Given the description of an element on the screen output the (x, y) to click on. 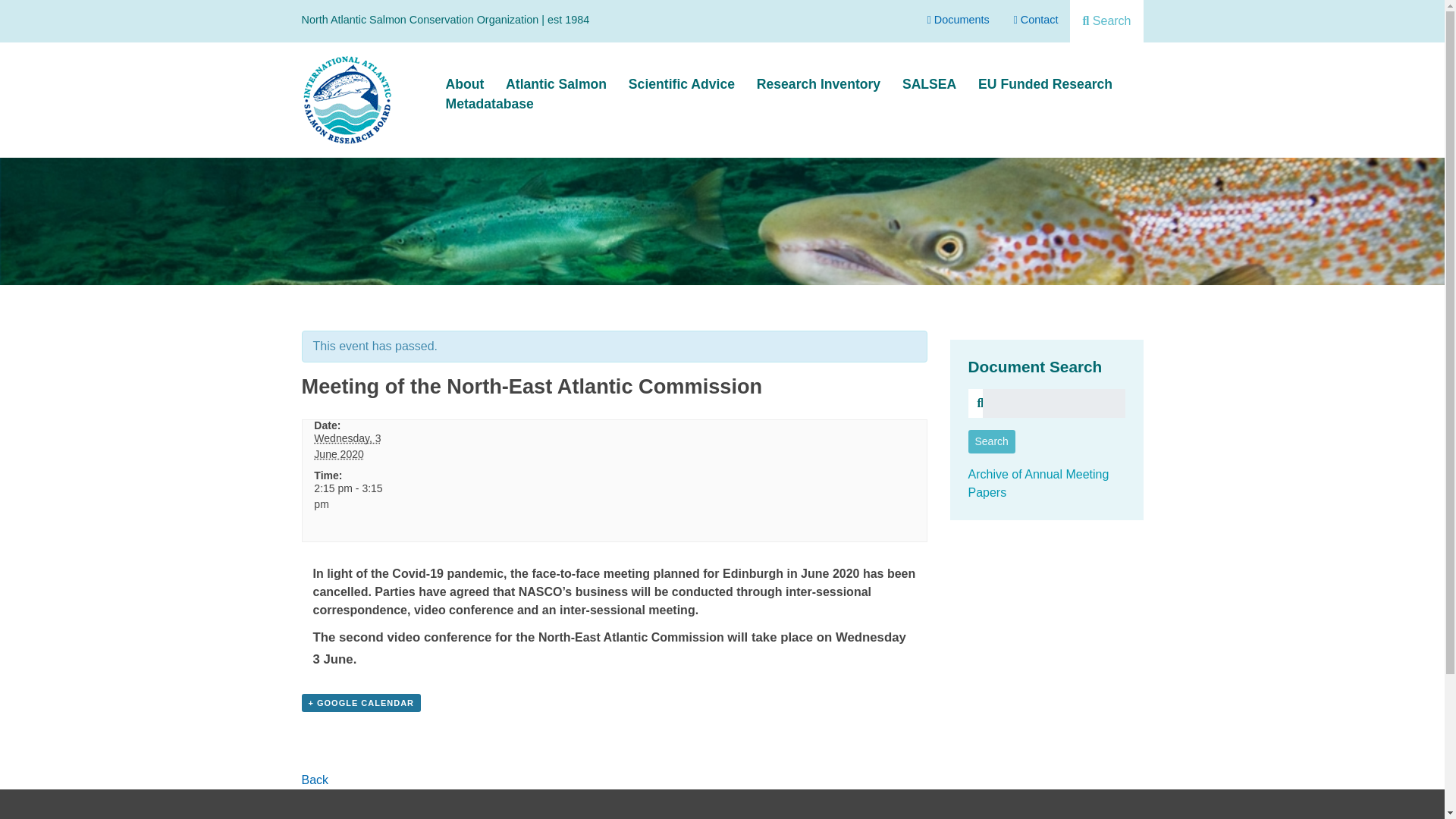
Atlantic Salmon (556, 84)
Metadatabase (489, 103)
Research Inventory (818, 84)
Scientific Advice (681, 84)
Contact (1035, 19)
Search (970, 56)
Scientific Advice (681, 84)
About (464, 84)
EU Funded Research (1045, 84)
Research Inventory (818, 84)
Atlantic Salmon (556, 84)
Documents (958, 19)
Search (1106, 21)
About (464, 84)
EU Funded Research (1045, 84)
